Given the description of an element on the screen output the (x, y) to click on. 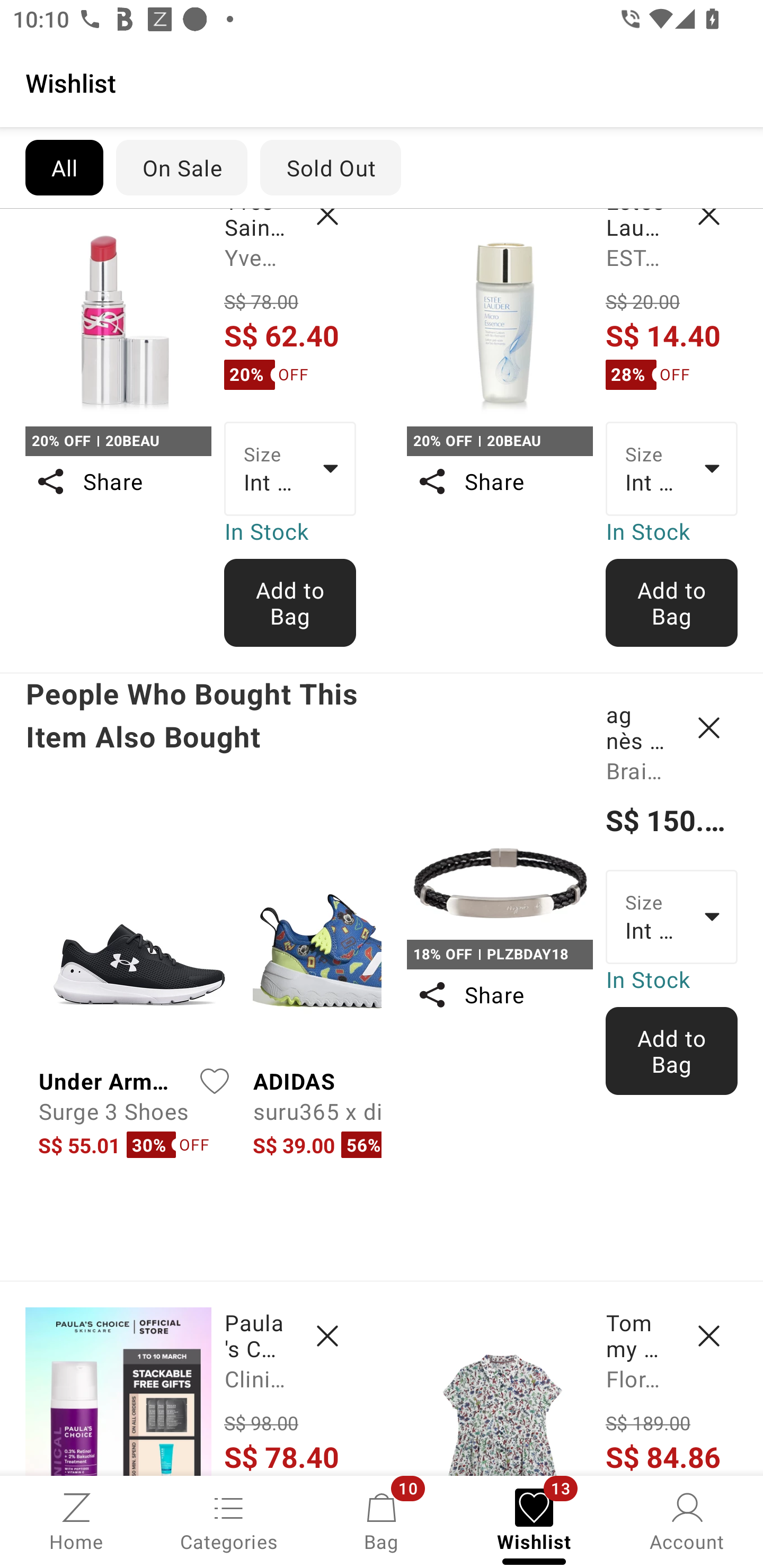
Wishlist (381, 82)
All (64, 167)
On Sale (181, 167)
Sold Out (330, 167)
Size Int One Size (290, 468)
Size Int One Size (671, 468)
Share (118, 481)
Share (499, 481)
Add to Bag (290, 602)
Add to Bag (671, 602)
Size Int One Size (671, 917)
Share (499, 994)
Add to Bag (671, 1050)
Home (76, 1519)
Categories (228, 1519)
Bag, 10 new notifications Bag (381, 1519)
Account (686, 1519)
